Given the description of an element on the screen output the (x, y) to click on. 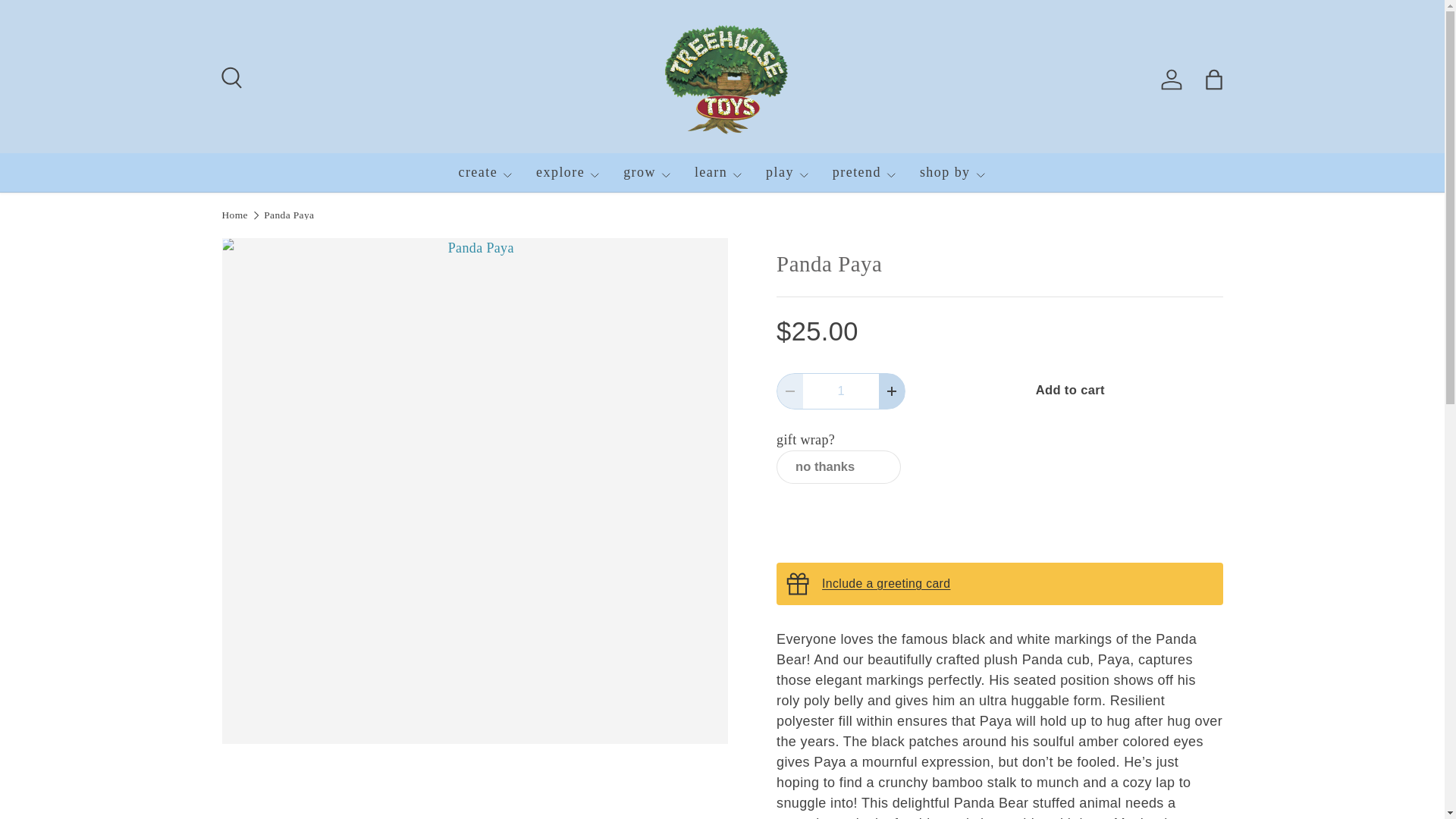
Bag (1213, 79)
greeting cards (886, 583)
1 (841, 391)
Search (229, 75)
Log in (1171, 79)
create (485, 172)
Skip to content (64, 21)
